Given the description of an element on the screen output the (x, y) to click on. 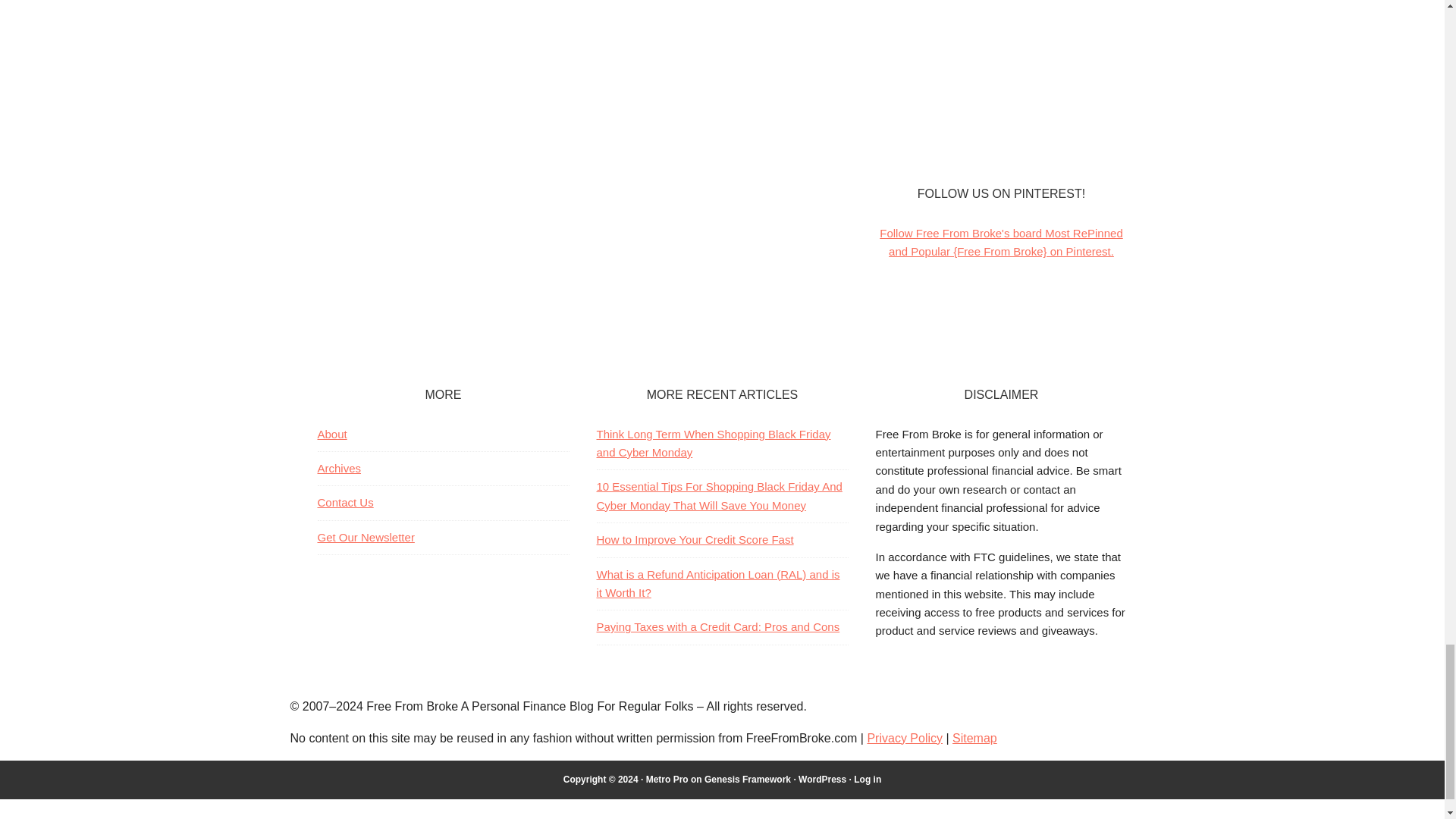
Look How to Improve Your Credit Score Fast (694, 539)
Look Paying Taxes with a Credit Card: Pros and Cons (717, 626)
